Given the description of an element on the screen output the (x, y) to click on. 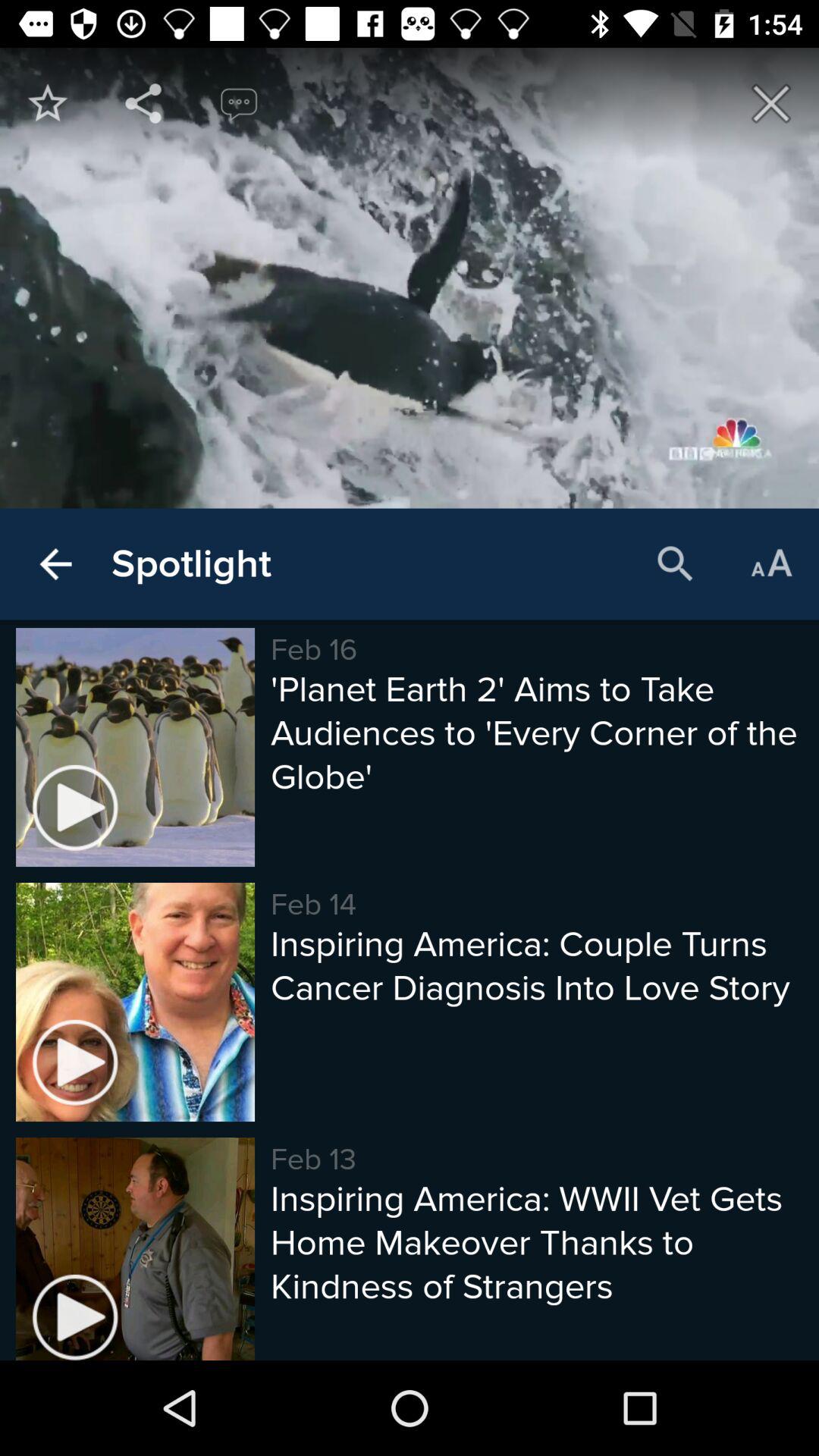
turn on item next to the spotlight (675, 563)
